Given the description of an element on the screen output the (x, y) to click on. 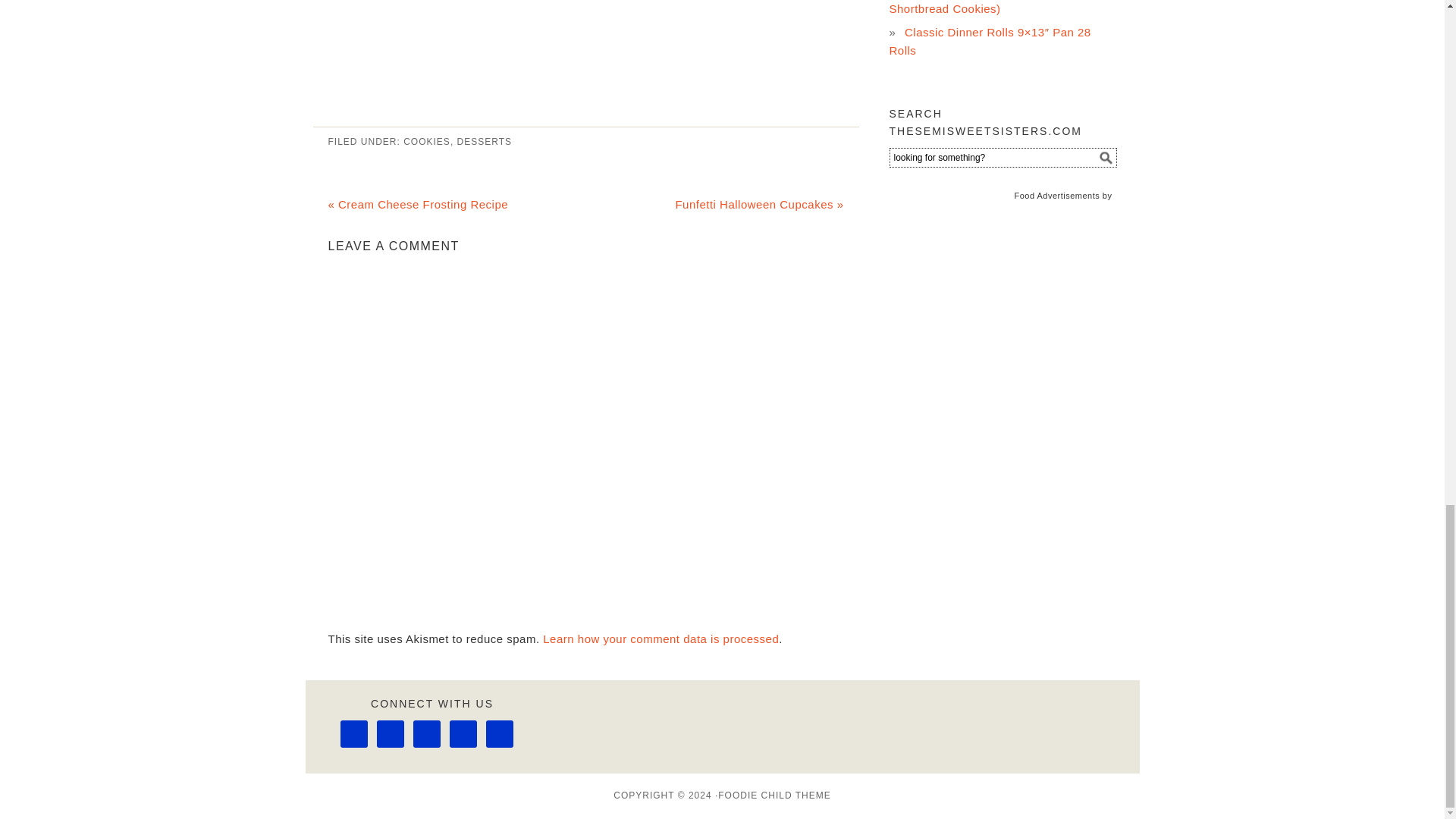
Learn how your comment data is processed (660, 638)
COOKIES (426, 141)
DESSERTS (484, 141)
